Given the description of an element on the screen output the (x, y) to click on. 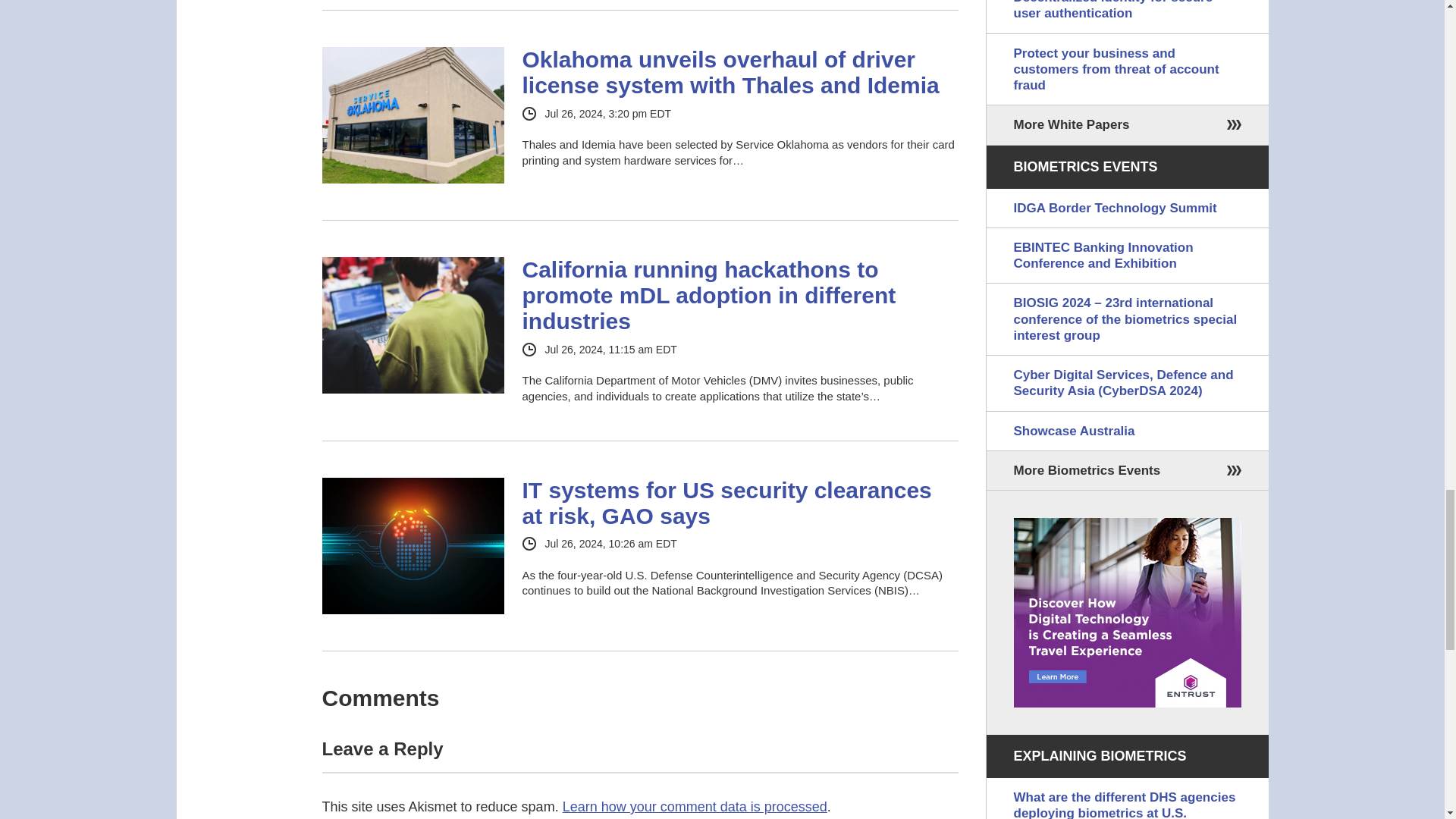
3rd party ad content (1126, 612)
